Given the description of an element on the screen output the (x, y) to click on. 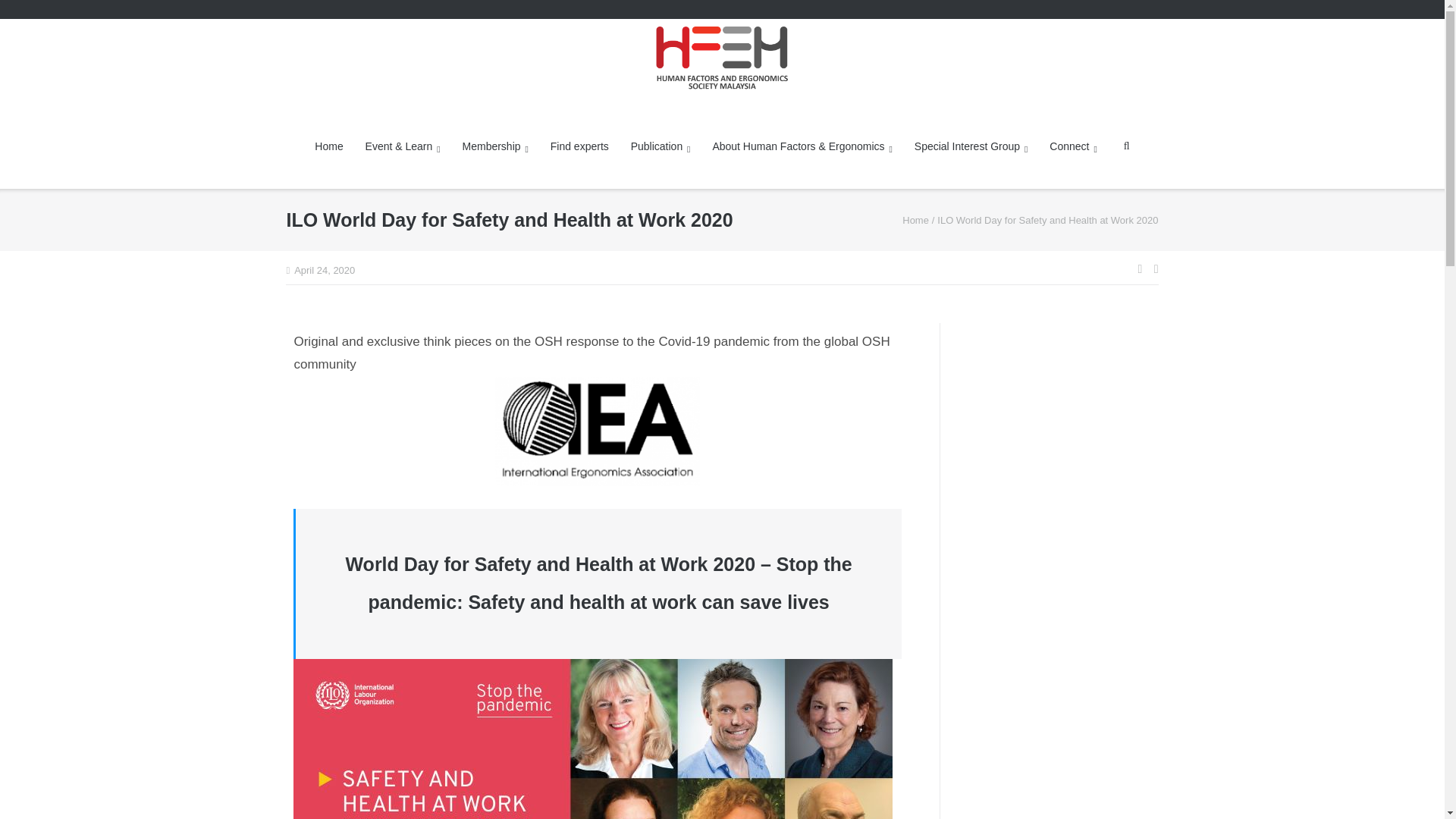
HFEM (915, 220)
